Given the description of an element on the screen output the (x, y) to click on. 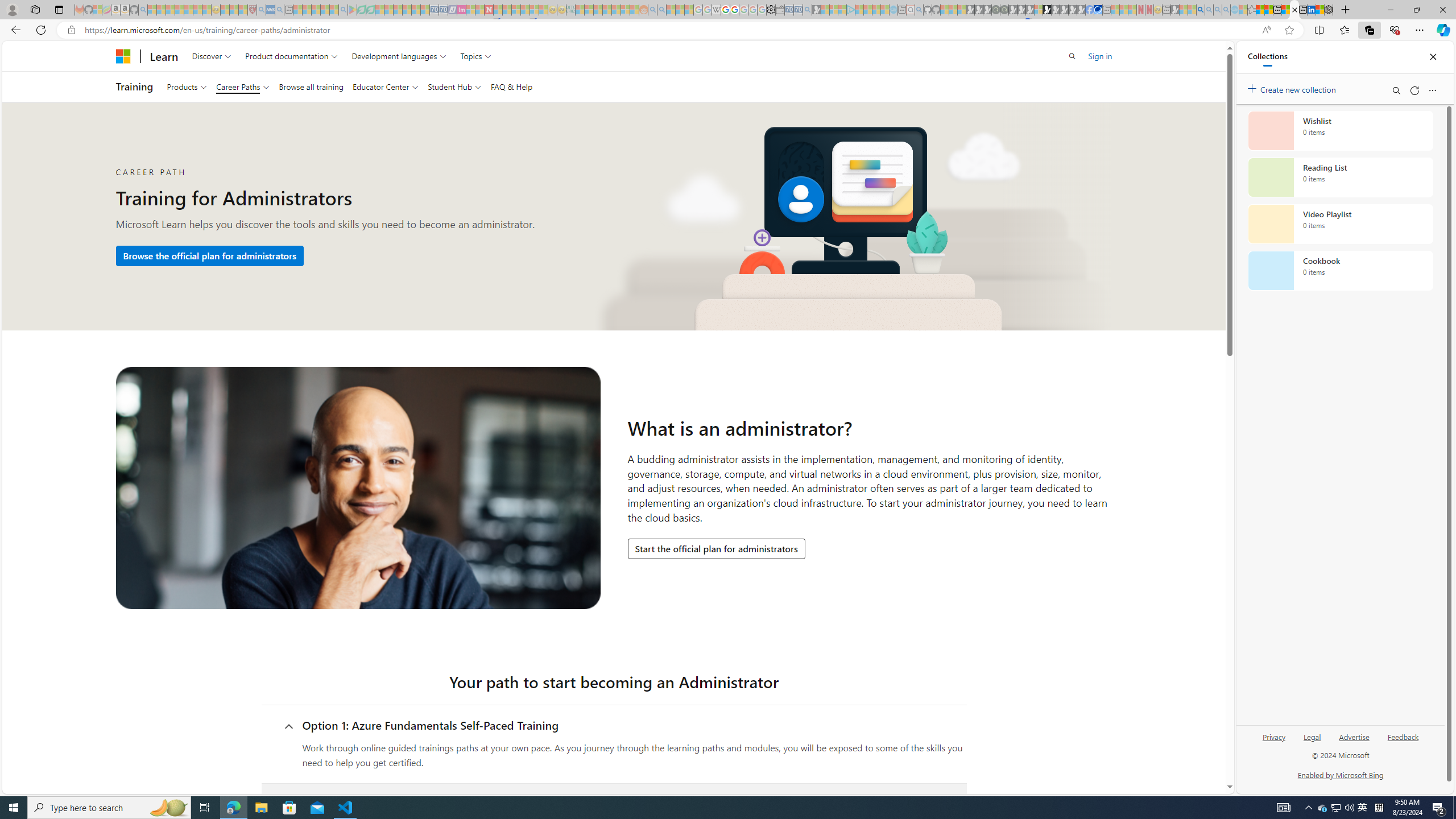
Browse the official plan for administrators (209, 255)
FAQ & Help (511, 86)
Nordace | Facebook - Sleeping (1089, 9)
Start the official plan for administrators (716, 548)
utah sues federal government - Search - Sleeping (279, 9)
Target page - Wikipedia - Sleeping (716, 9)
Topics (475, 55)
